Given the description of an element on the screen output the (x, y) to click on. 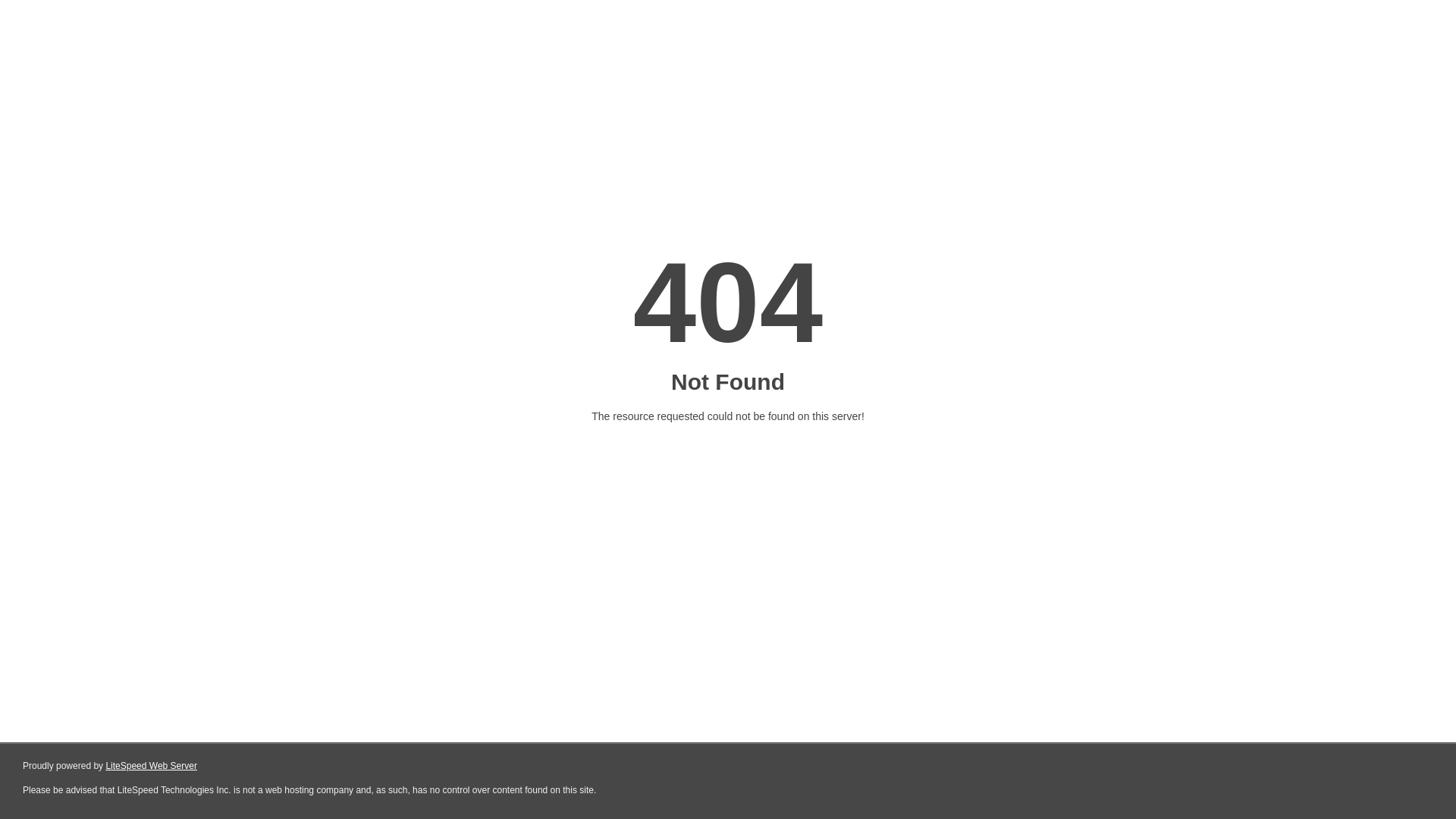
LiteSpeed Web Server Element type: text (151, 765)
